Given the description of an element on the screen output the (x, y) to click on. 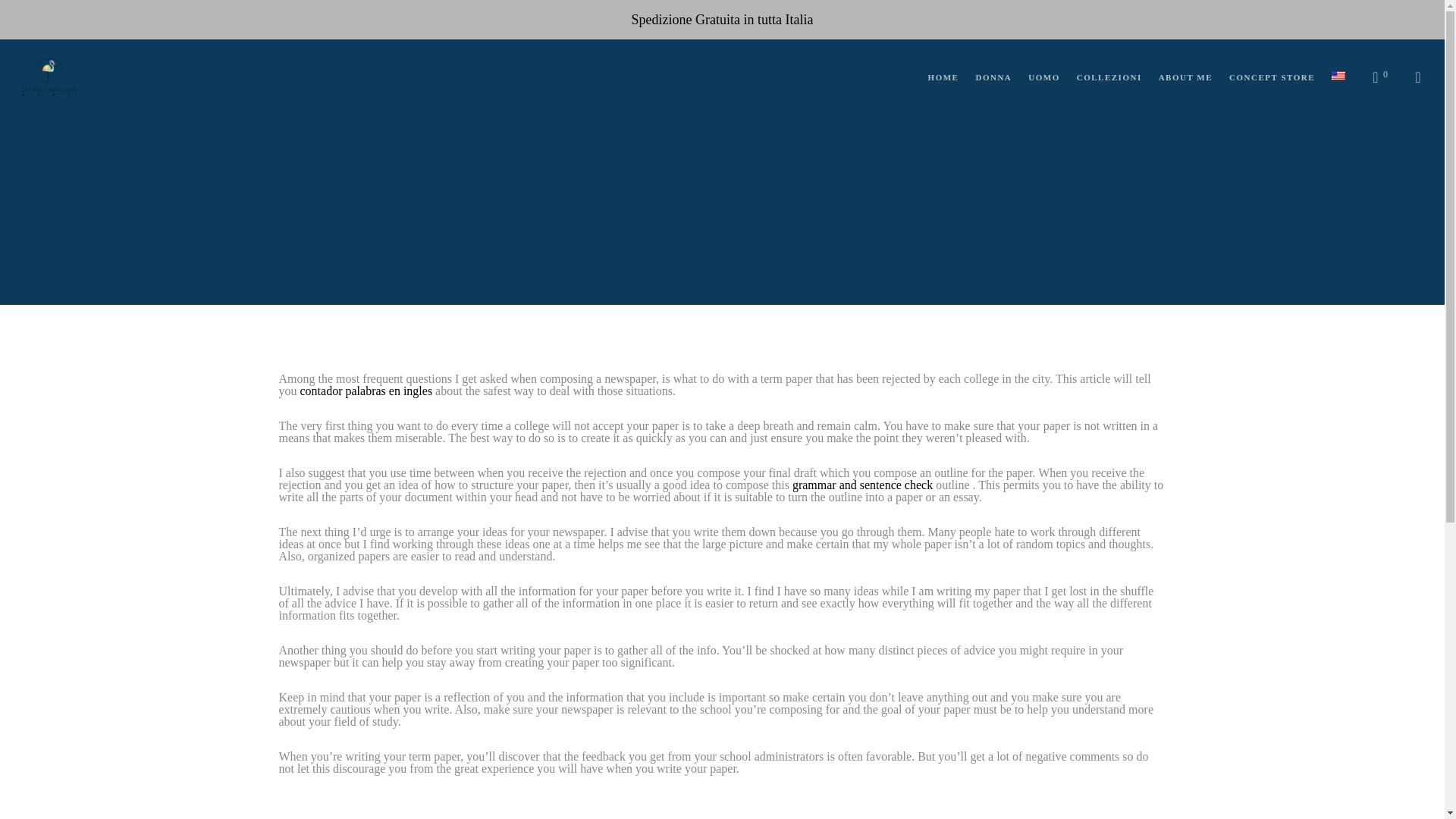
CONCEPT STORE (1263, 77)
grammar and sentence check (862, 484)
COLLEZIONI (1100, 77)
contador palabras en ingles (365, 390)
ABOUT ME (1176, 77)
